Given the description of an element on the screen output the (x, y) to click on. 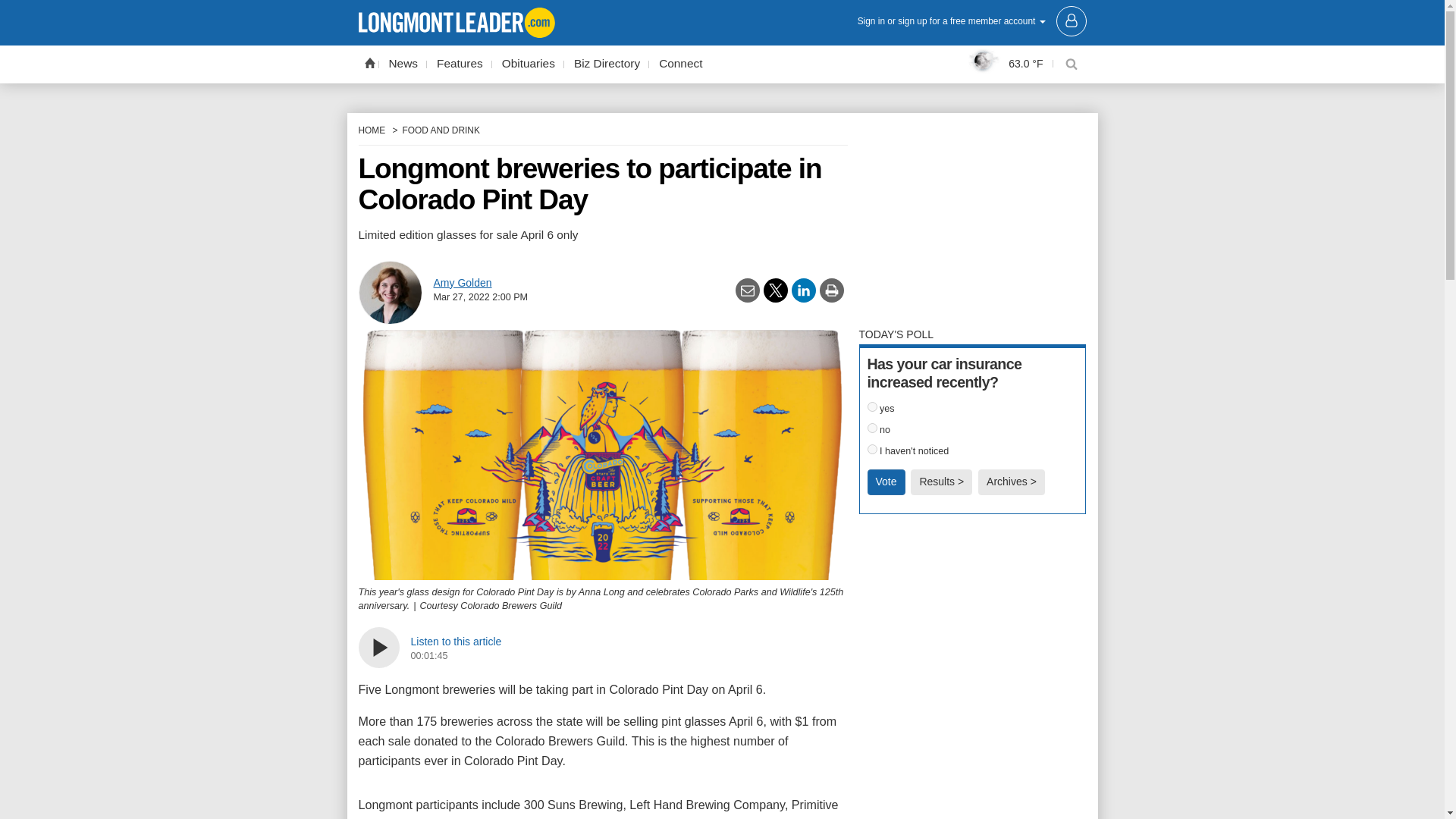
Sign in or sign up for a free member account (971, 20)
119152 (872, 428)
119151 (872, 406)
Home (368, 62)
Obituaries (528, 64)
119153 (872, 449)
News (403, 64)
